Given the description of an element on the screen output the (x, y) to click on. 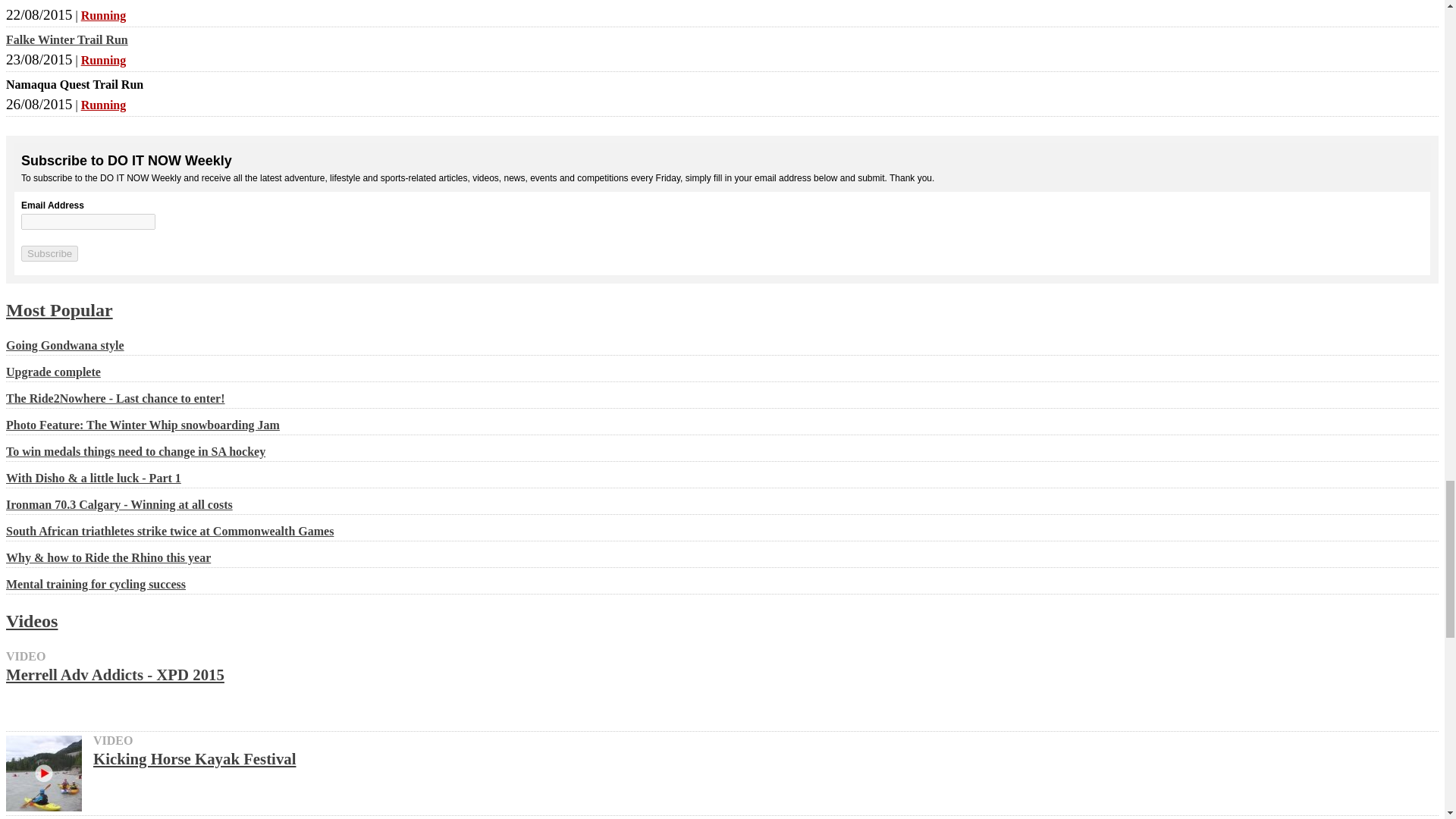
Subscribe (49, 253)
